Given the description of an element on the screen output the (x, y) to click on. 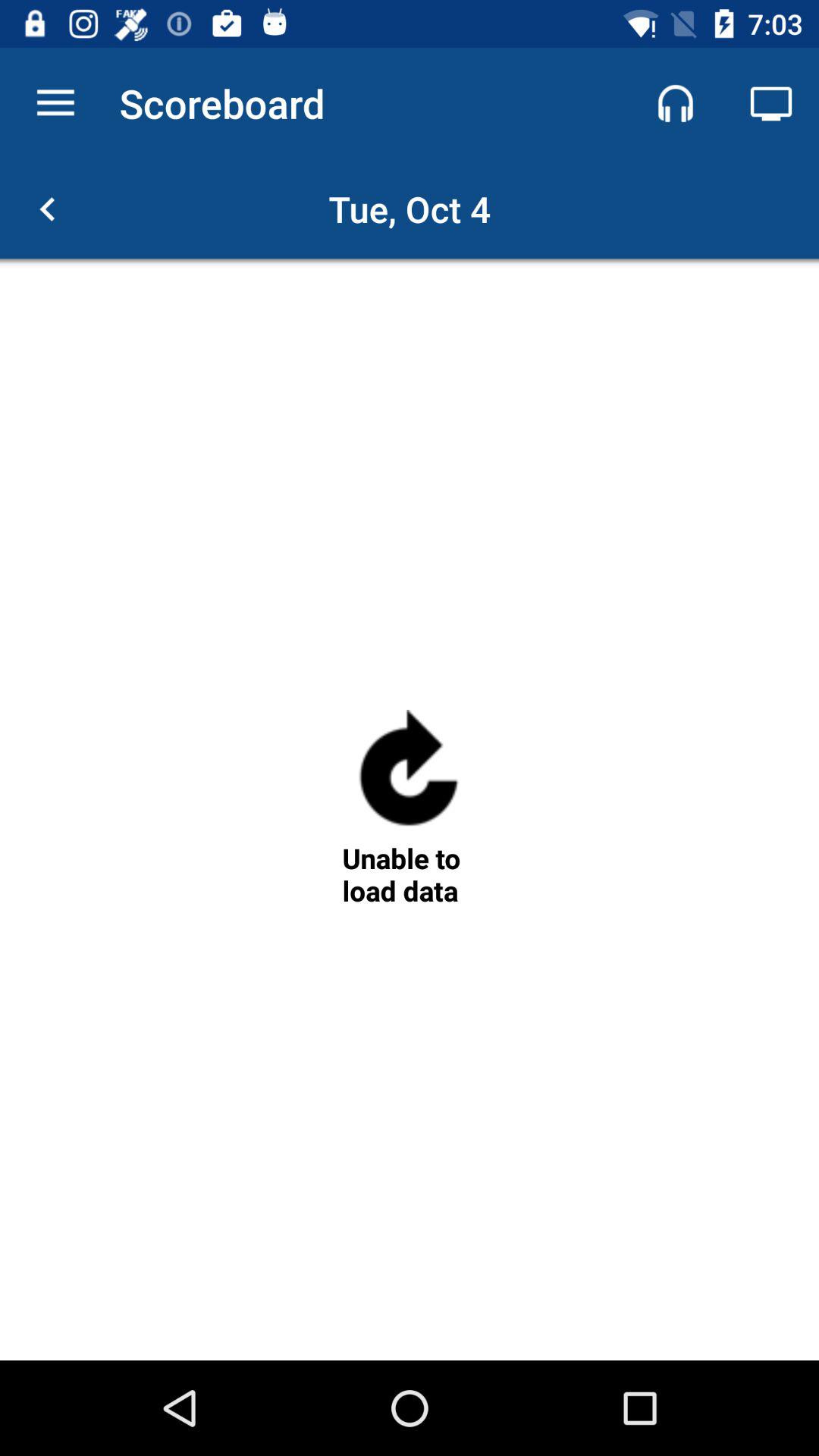
tap the item above unable to load (408, 774)
